Given the description of an element on the screen output the (x, y) to click on. 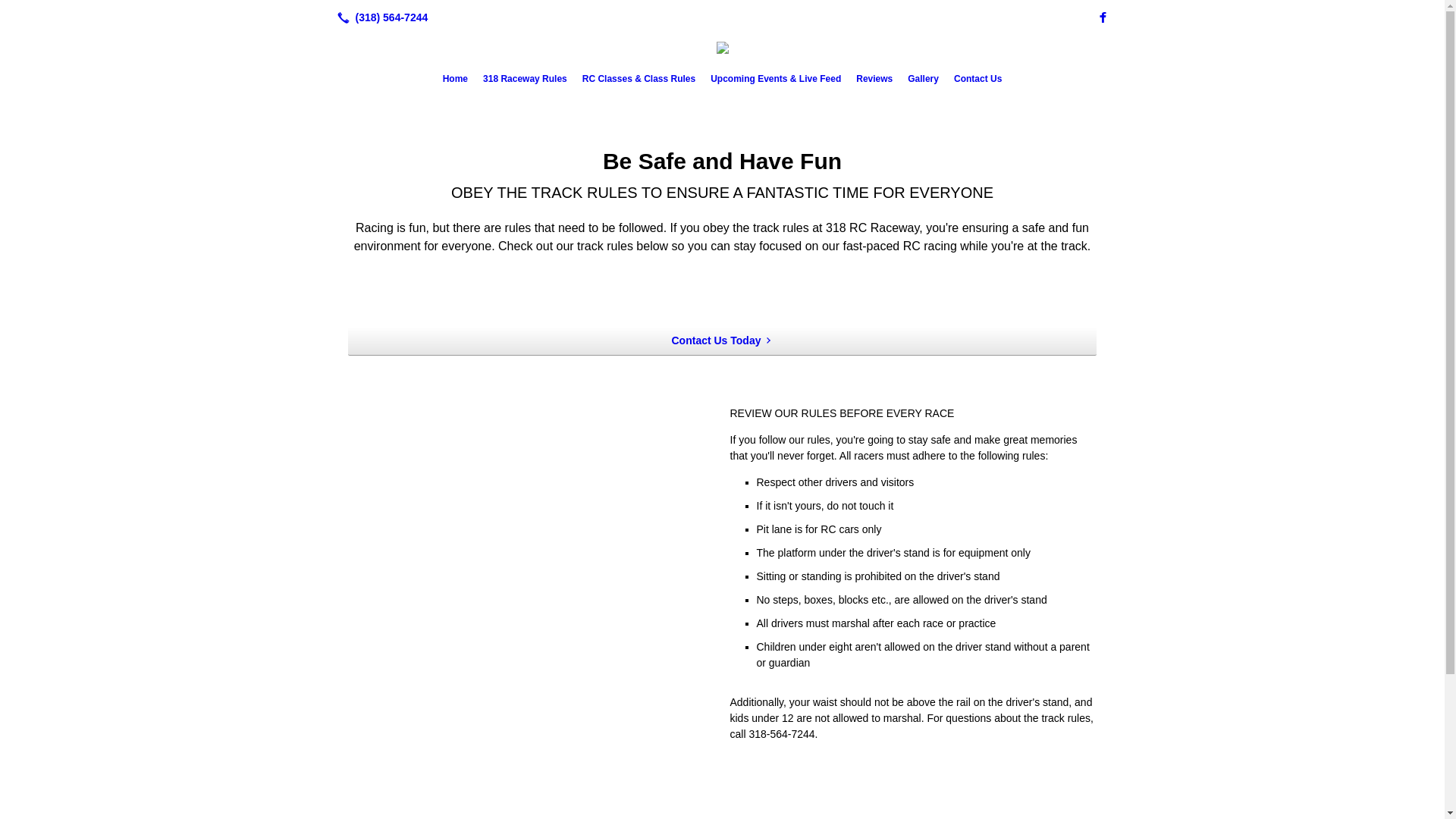
(318) 564-7244 Element type: hover (378, 17)
Contact Us Today Element type: text (722, 340)
Home Element type: text (455, 78)
Contact Us Element type: text (977, 78)
Gallery Element type: text (923, 78)
318 Raceway Rules Element type: text (524, 78)
Facebook Element type: hover (1102, 17)
Upcoming Events & Live Feed Element type: text (775, 78)
Reviews Element type: text (874, 78)
RC Classes & Class Rules Element type: text (638, 78)
